Given the description of an element on the screen output the (x, y) to click on. 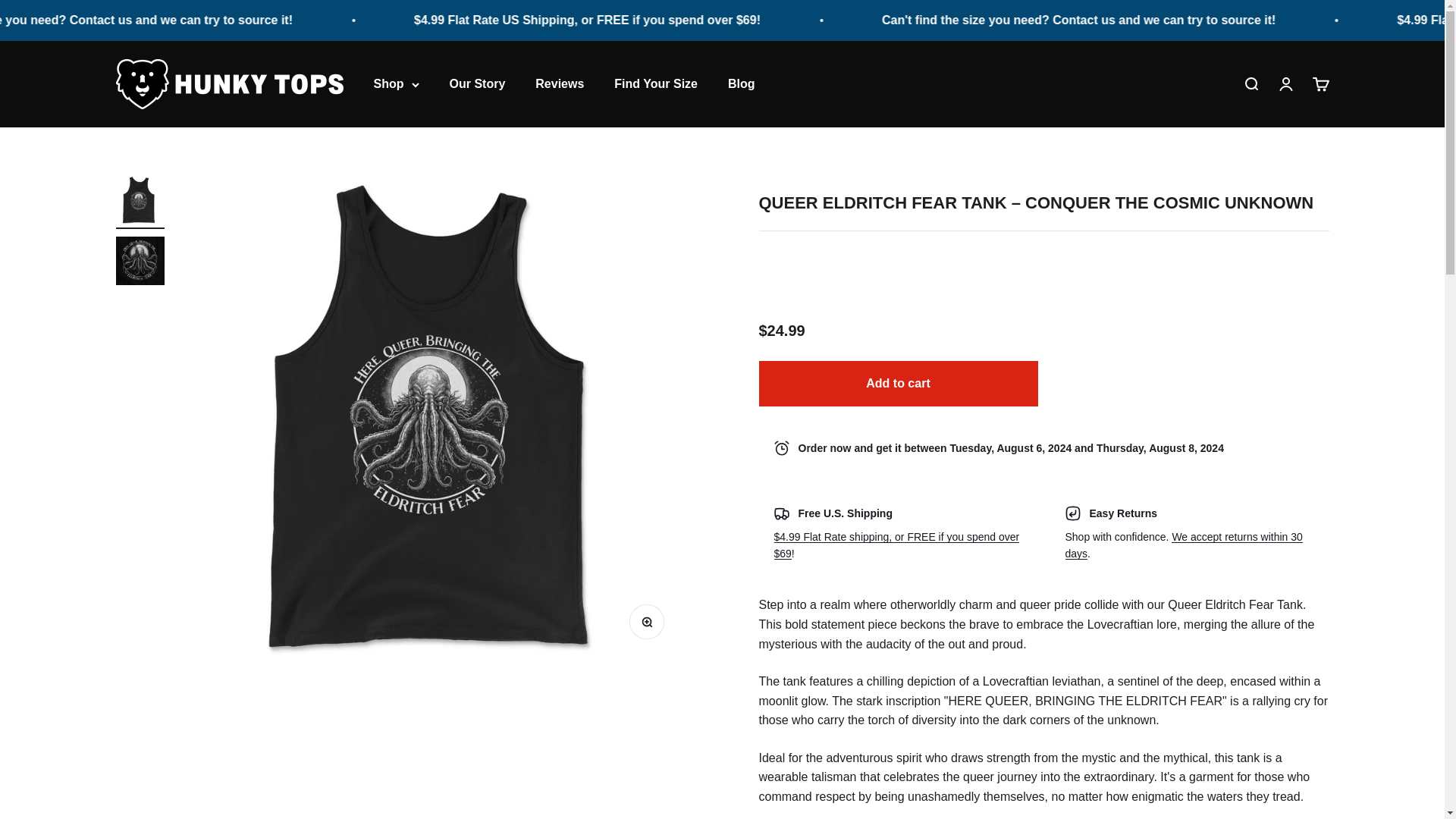
Find Your Size (655, 83)
Open account page (1319, 84)
Reviews (1285, 84)
Our Story (559, 83)
Open search (476, 83)
Blog (1250, 84)
Refund Policy (741, 83)
Shipping Policy (1182, 544)
Hunky Tops (896, 544)
